Given the description of an element on the screen output the (x, y) to click on. 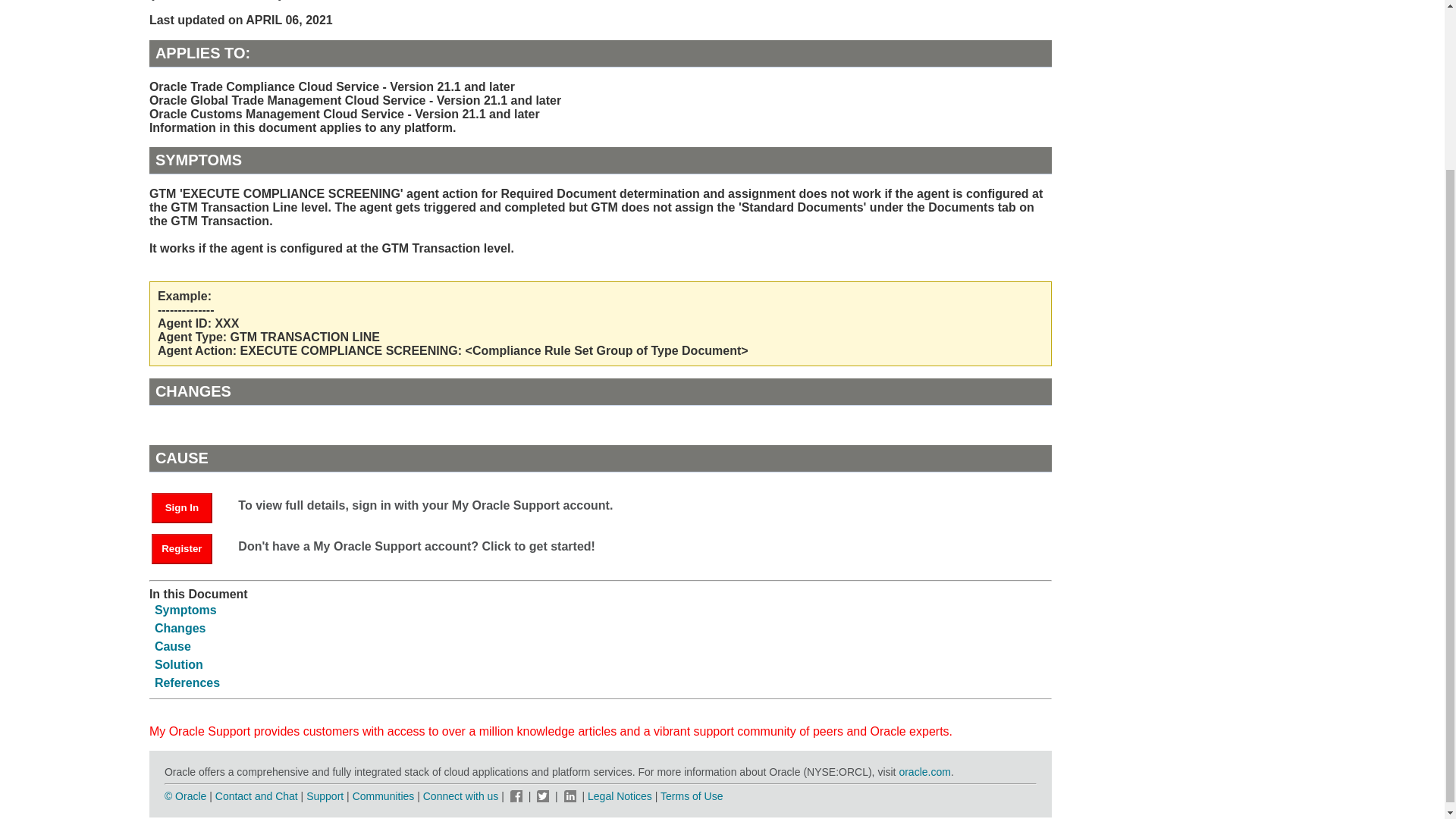
Sign In (189, 506)
References (186, 682)
Changes (180, 627)
Register (189, 547)
Support (324, 796)
Terms of Use (691, 796)
Sign In (181, 508)
Connect with us (462, 796)
Register (181, 548)
oracle.com (924, 771)
Legal Notices (620, 796)
Cause (172, 645)
Communities (383, 796)
oracle.com (924, 771)
Solution (178, 664)
